Given the description of an element on the screen output the (x, y) to click on. 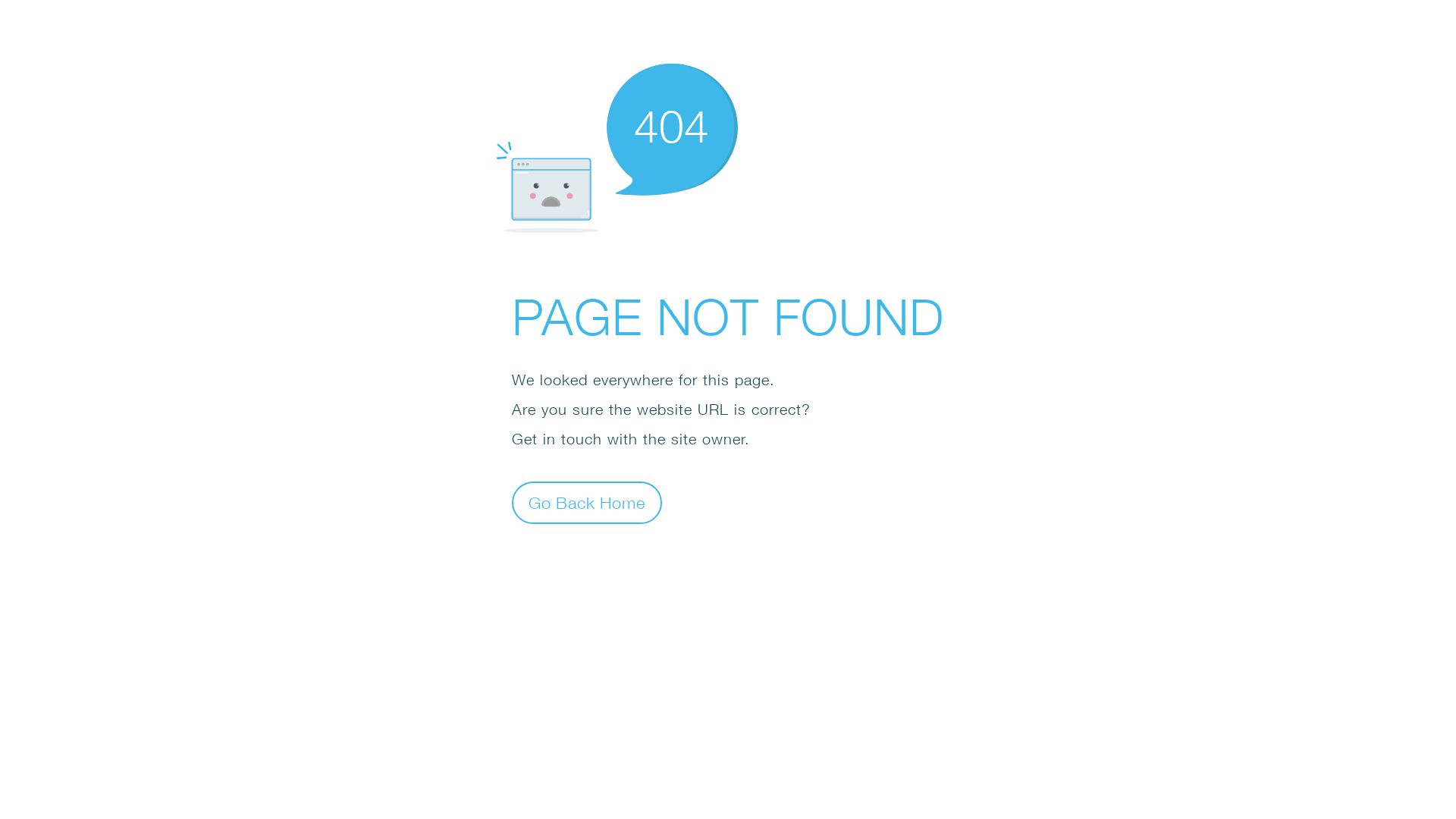
Go Back Home Element type: text (586, 502)
